Given the description of an element on the screen output the (x, y) to click on. 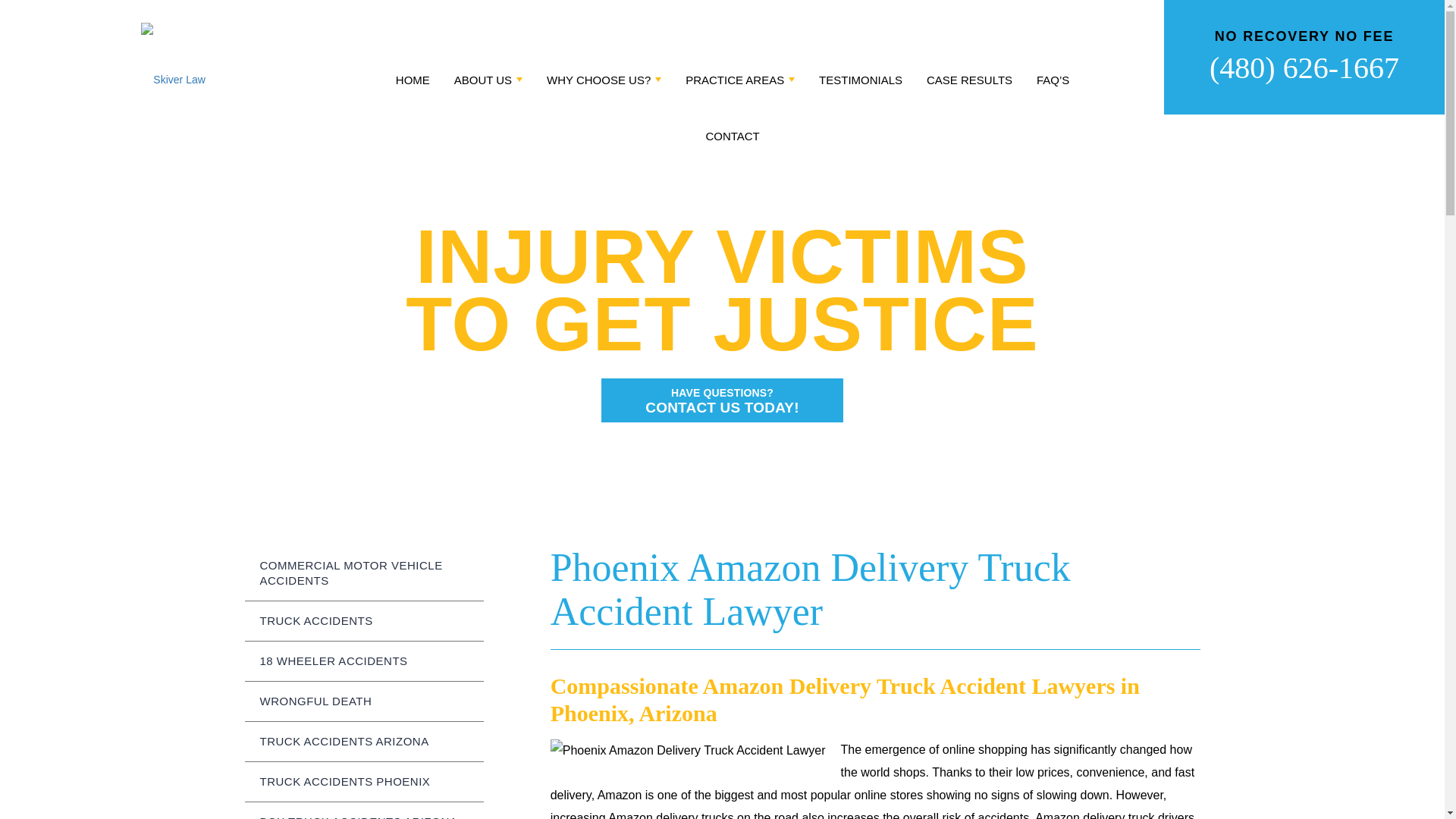
ABOUT US (488, 86)
TESTIMONIALS (860, 86)
WHY CHOOSE US? (604, 86)
PRACTICE AREAS (722, 400)
CONTACT (739, 86)
CASE RESULTS (731, 143)
Skiver Law (968, 86)
